Given the description of an element on the screen output the (x, y) to click on. 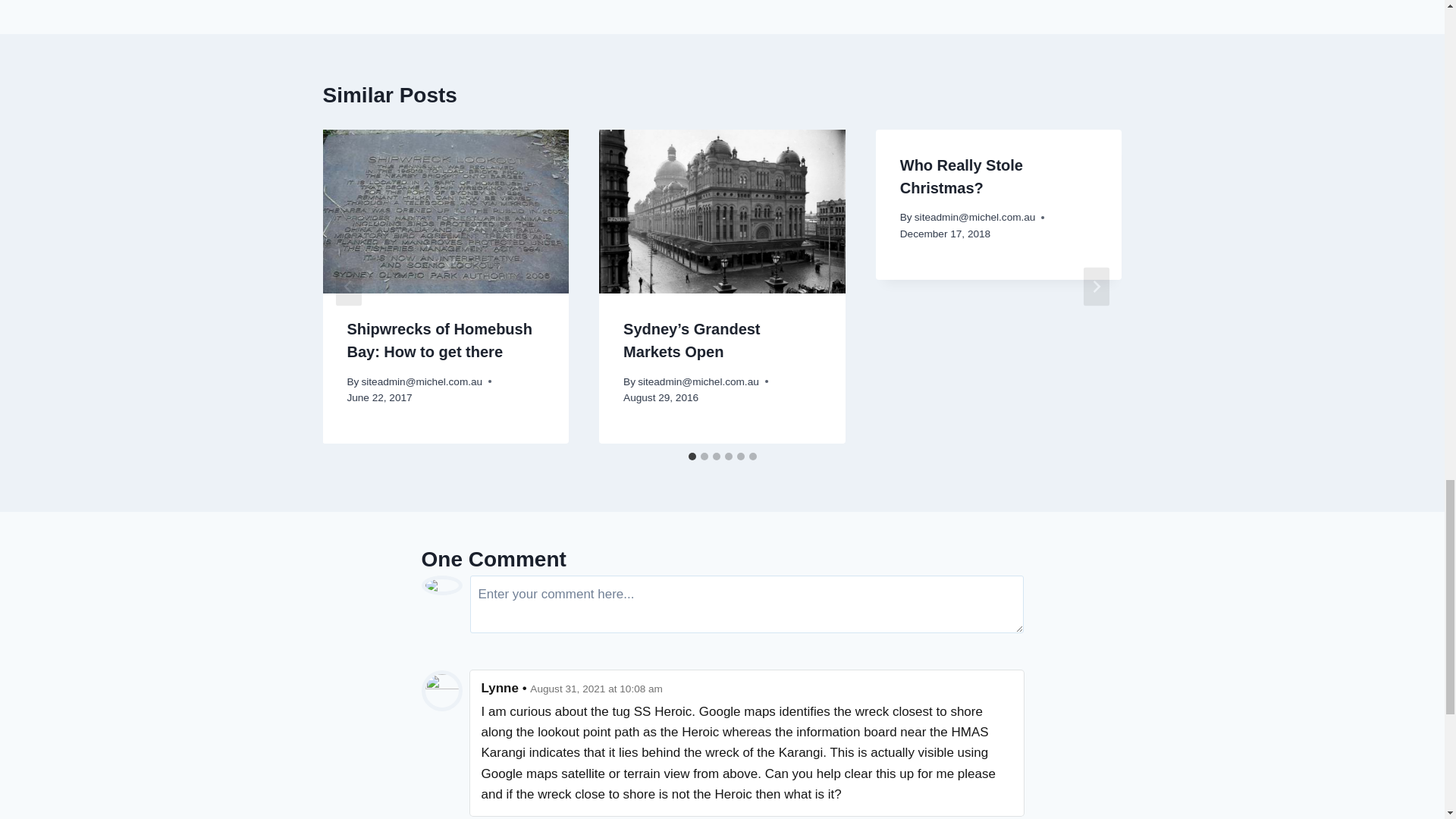
Enter your comment here... (746, 604)
August 31, 2021 at 10:08 am (595, 688)
